Given the description of an element on the screen output the (x, y) to click on. 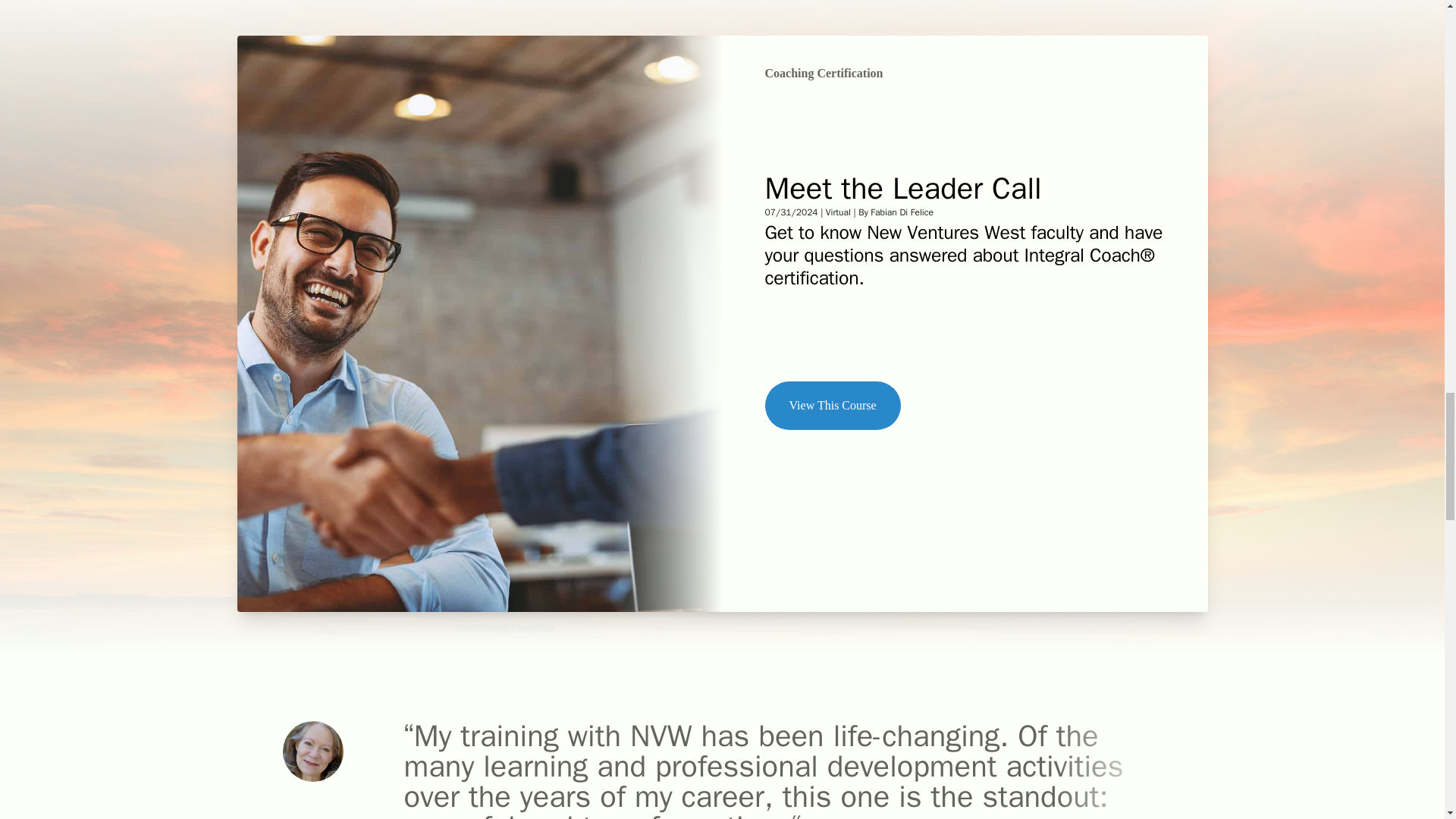
View This Course (831, 405)
